Given the description of an element on the screen output the (x, y) to click on. 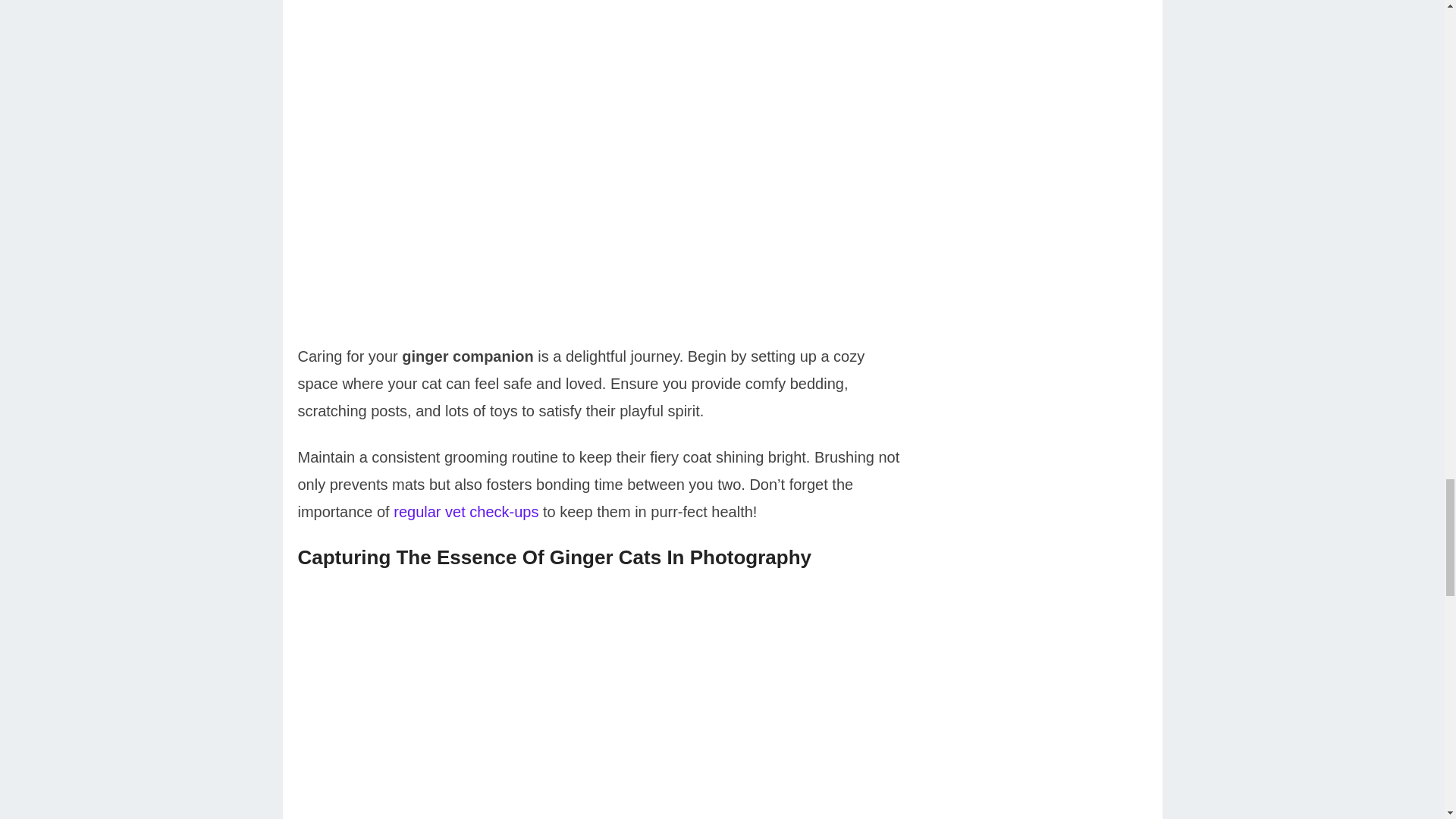
regular vet check-ups (465, 511)
